Given the description of an element on the screen output the (x, y) to click on. 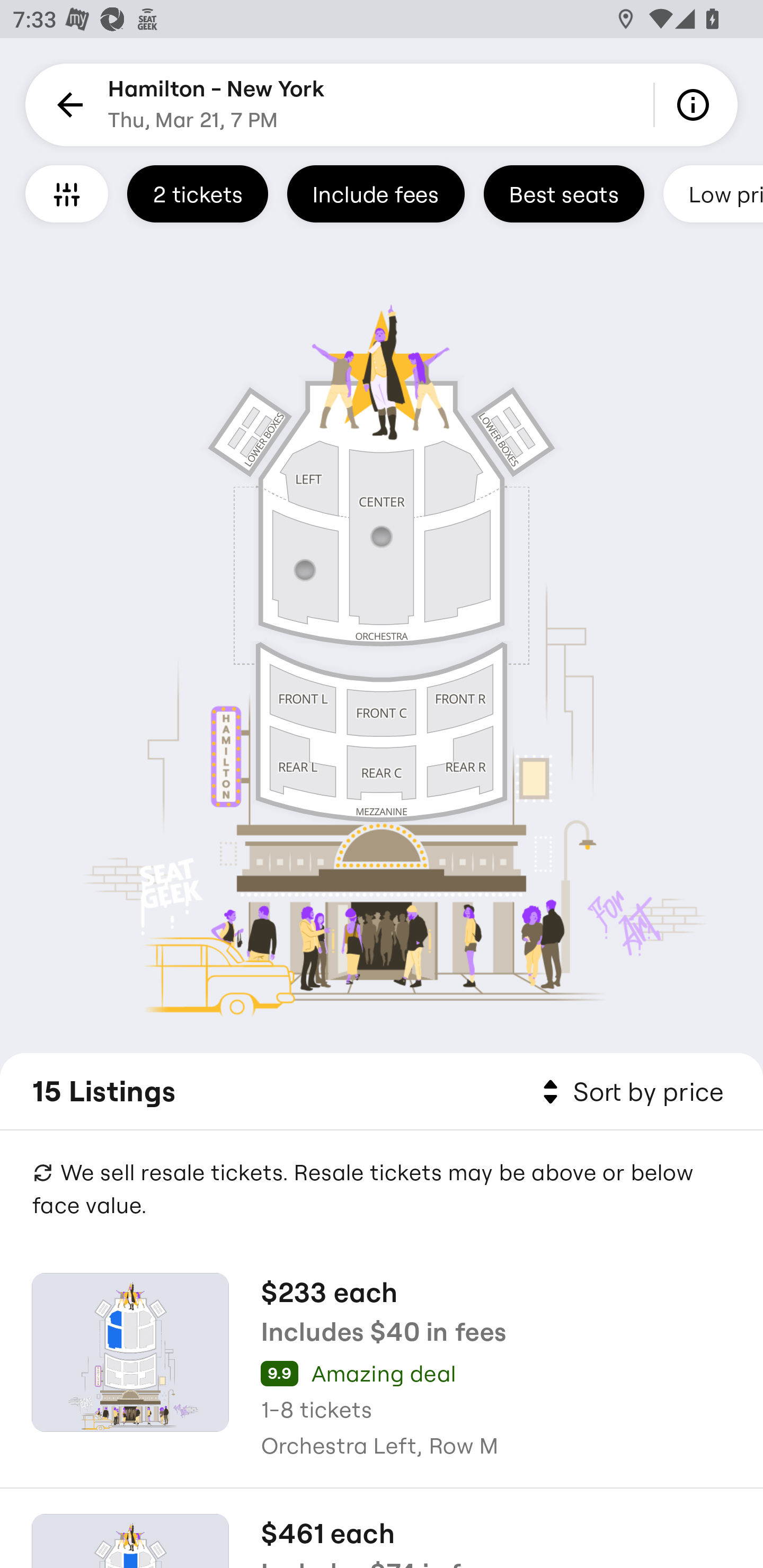
Back (66, 104)
Hamilton - New York Thu, Mar 21, 7 PM (216, 104)
Info (695, 104)
Filters and Accessible Seating (66, 193)
2 tickets (197, 193)
Include fees (375, 193)
Best seats (563, 193)
Low prices (713, 193)
Sort by price (629, 1091)
